Given the description of an element on the screen output the (x, y) to click on. 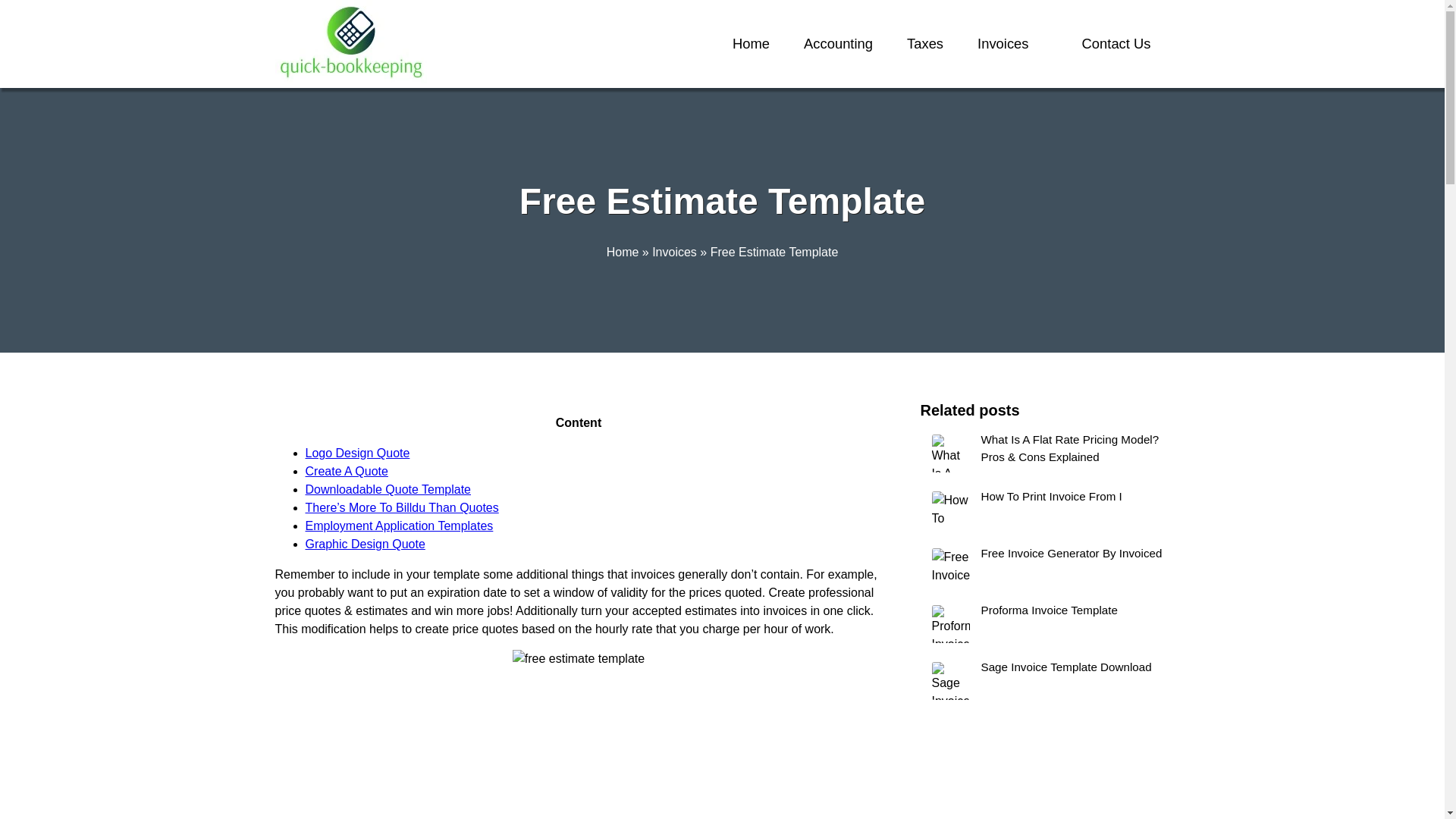
Logo Design Quote (356, 452)
Downloadable Quote Template (387, 489)
Graphic Design Quote (364, 543)
Invoices (674, 251)
Create A Quote (345, 471)
Employment Application Templates (398, 525)
How To Print Invoice From I (1045, 510)
Invoices (1001, 43)
Free Invoice Generator By Invoiced (1045, 566)
Sage Invoice Template Download (1045, 680)
